Given the description of an element on the screen output the (x, y) to click on. 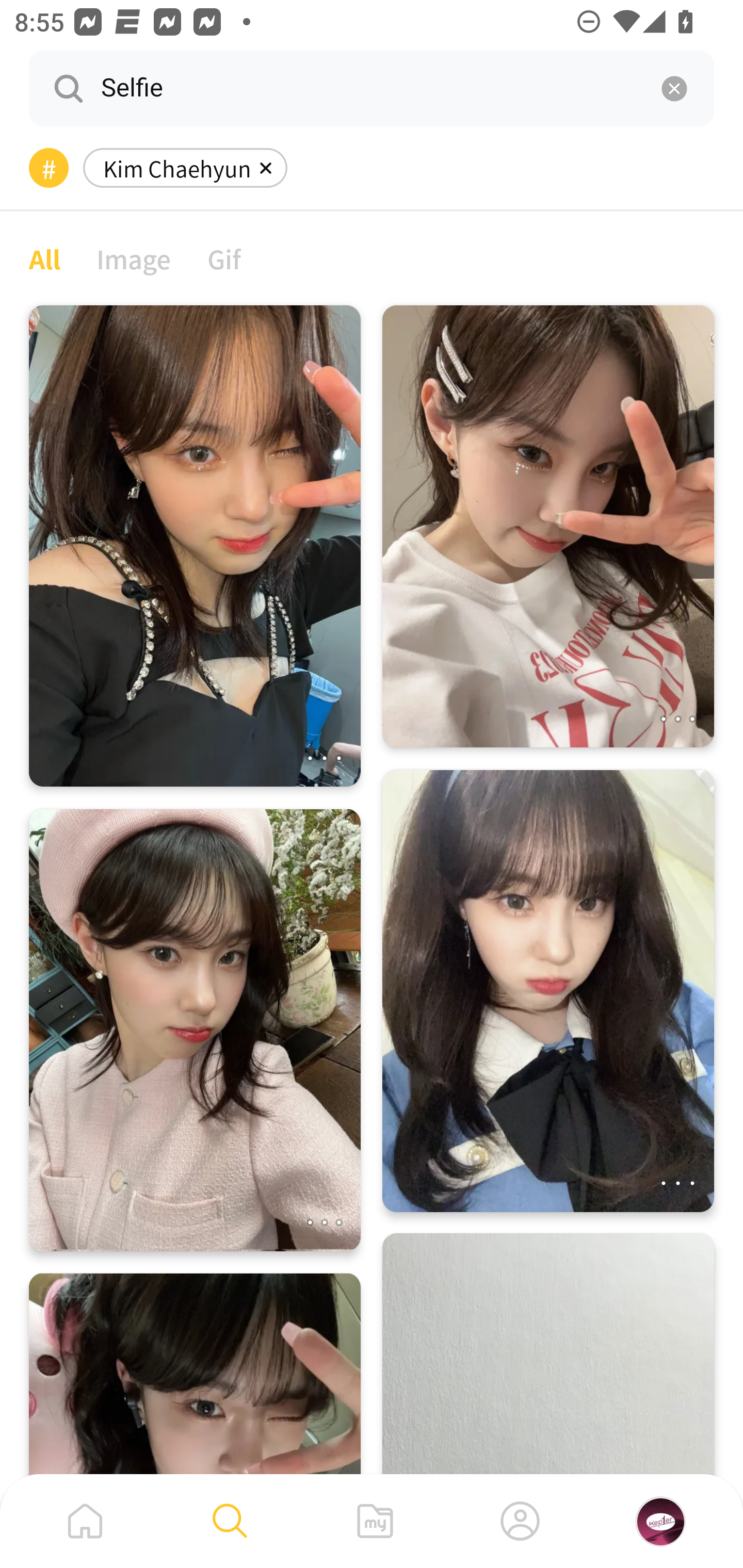
All (44, 257)
Image (133, 257)
Gif (223, 257)
